Given the description of an element on the screen output the (x, y) to click on. 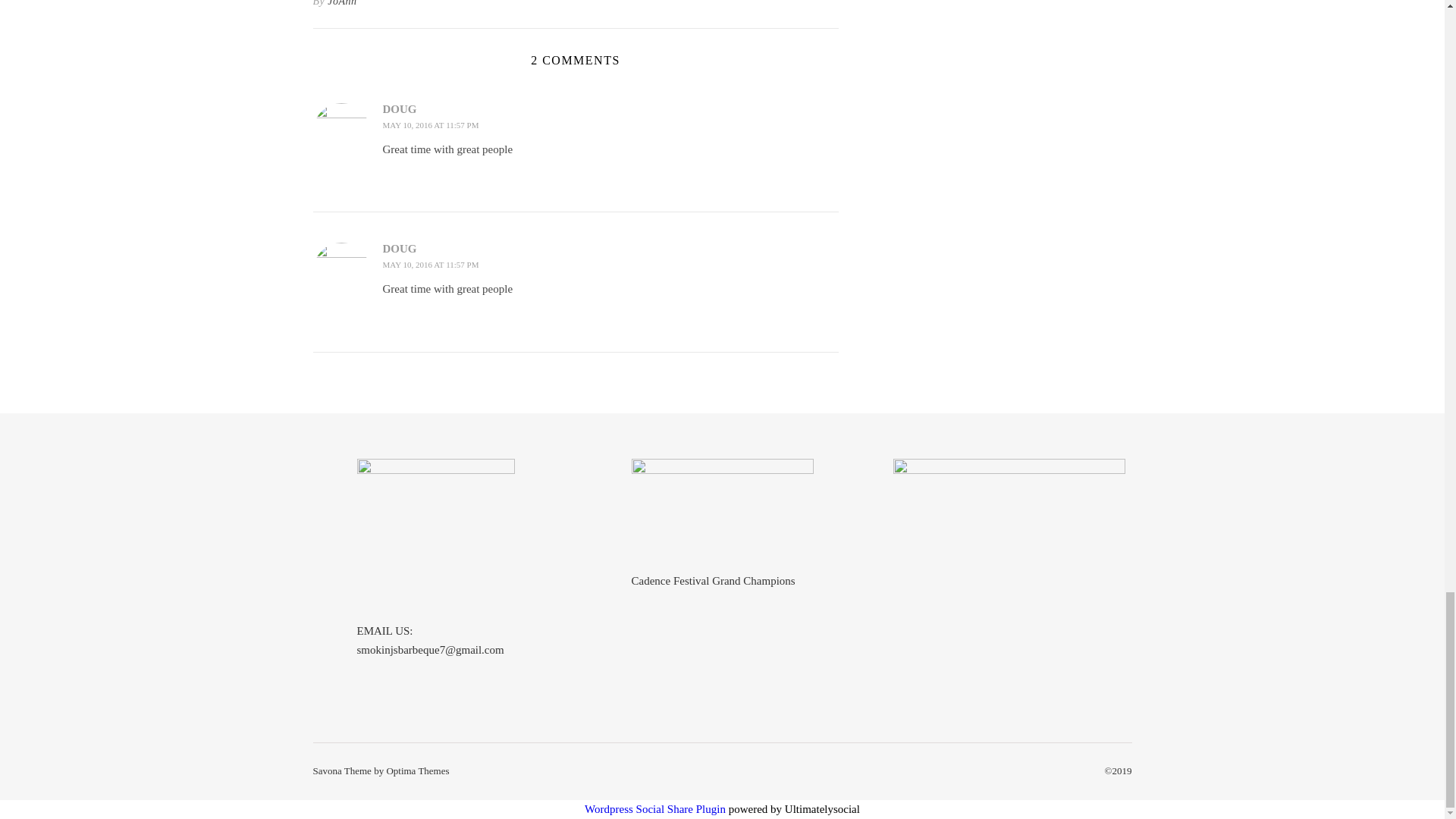
Posts by JoAnn (341, 6)
